Given the description of an element on the screen output the (x, y) to click on. 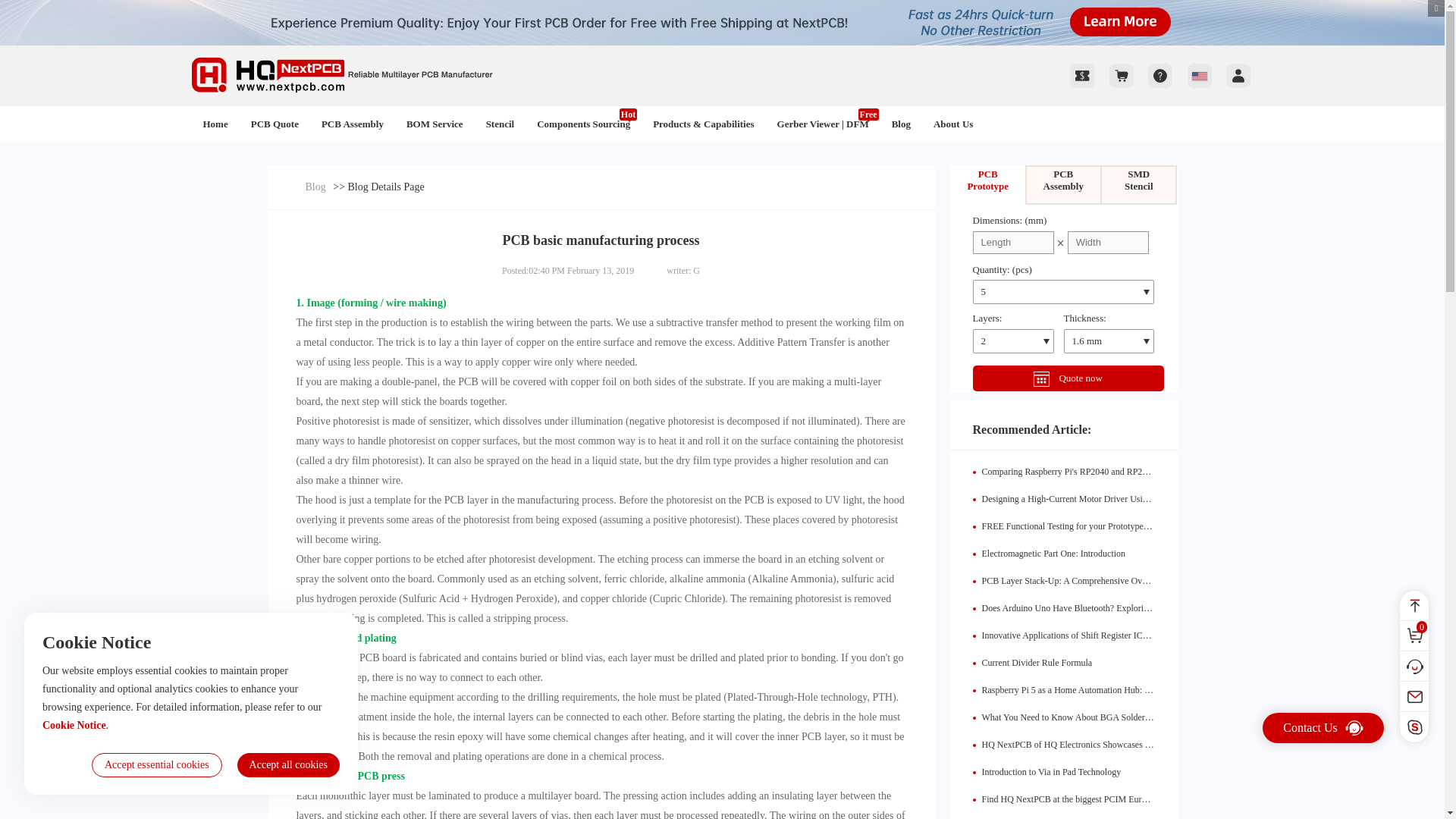
Innovative Applications of Shift Register ICs in IoT Devices (1091, 634)
PCB Quote (275, 124)
Raspberry Pi 5 as a Home Automation Hub: The Future is Now (1096, 689)
PCB Assembly (352, 124)
PCB Layer Stack-Up: A Comprehensive Overview (1073, 580)
Introduction to Via in Pad Technology (1051, 771)
BOM Service (434, 124)
Electromagnetic Part One: Introduction (1053, 552)
